Given the description of an element on the screen output the (x, y) to click on. 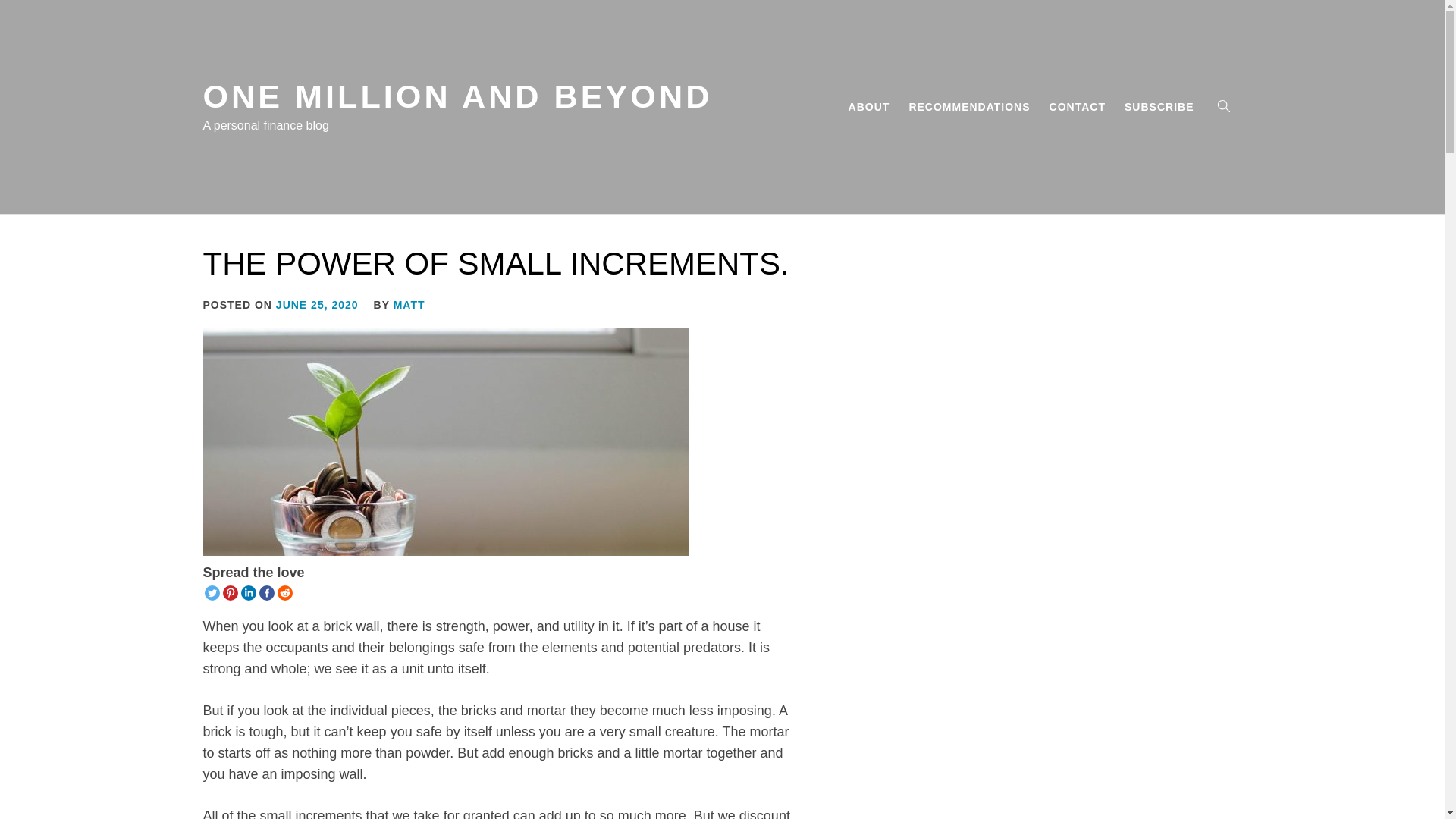
ABOUT (869, 106)
RECOMMENDATIONS (968, 106)
Facebook (267, 592)
Pinterest (230, 592)
MATT (409, 304)
Twitter (212, 592)
ONE MILLION AND BEYOND (458, 95)
Search (797, 409)
JUNE 25, 2020 (317, 304)
SUBSCRIBE (1158, 106)
Reddit (285, 592)
CONTACT (1077, 106)
Linkedin (248, 592)
